Given the description of an element on the screen output the (x, y) to click on. 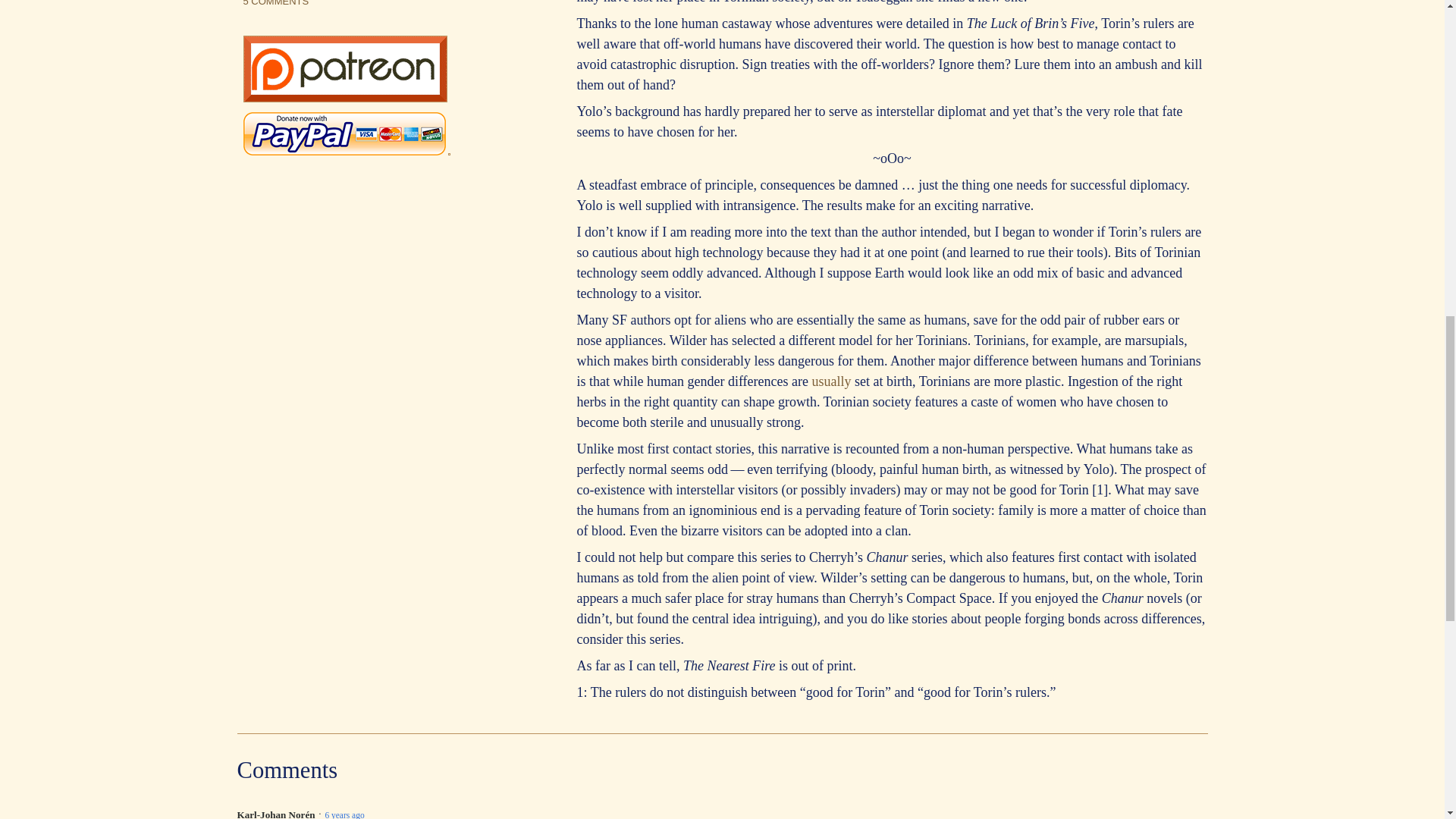
6 years ago (344, 813)
usually (831, 381)
5 comments (275, 3)
Patreon (344, 97)
